Given the description of an element on the screen output the (x, y) to click on. 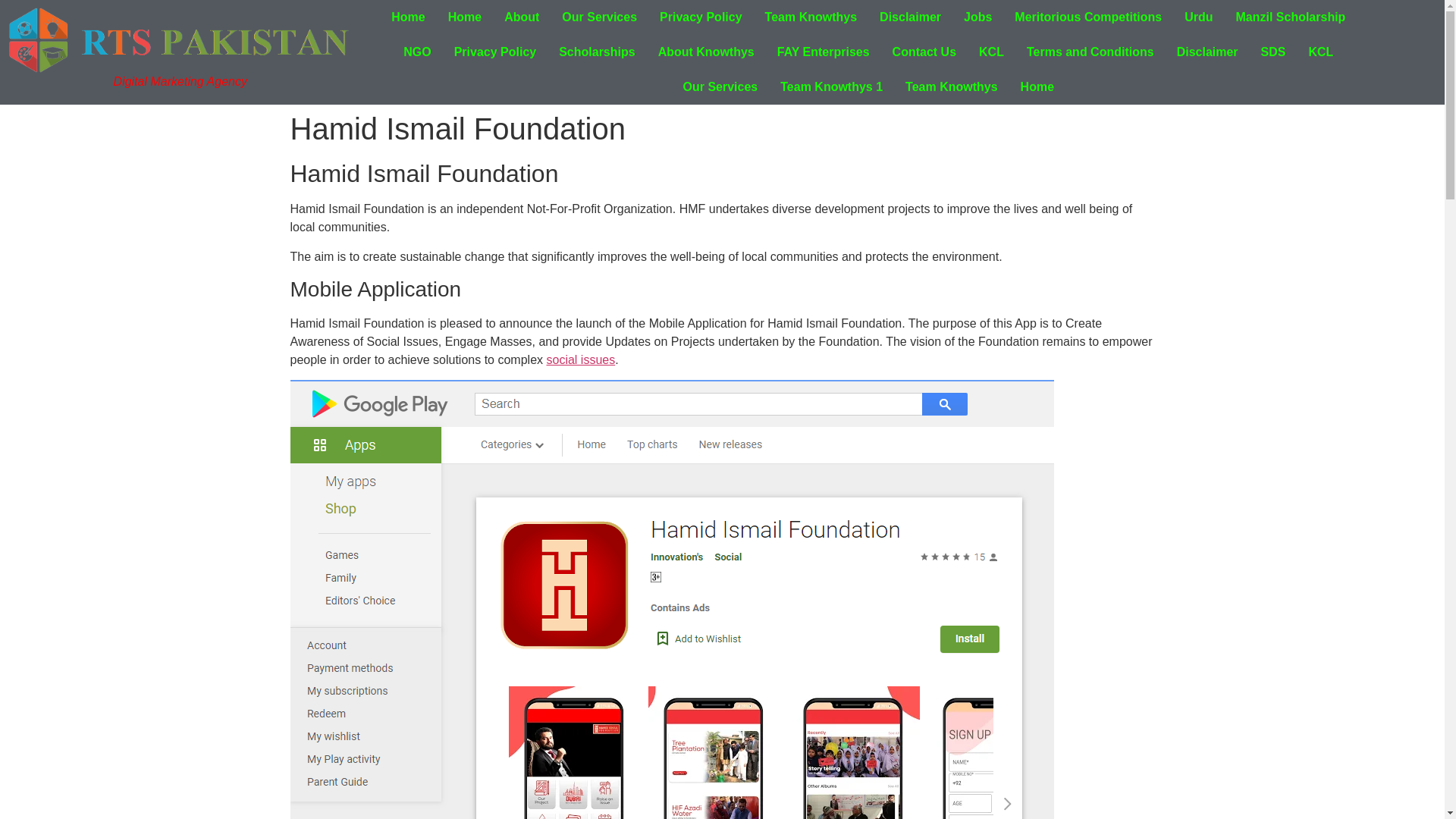
Home (1037, 86)
social issues (580, 359)
Meritorious Competitions (1088, 17)
Terms and Conditions (1090, 52)
Our Services (720, 86)
KCL (991, 52)
KCL (1320, 52)
Our Services (598, 17)
FAY Enterprises (822, 52)
Scholarships (596, 52)
